Given the description of an element on the screen output the (x, y) to click on. 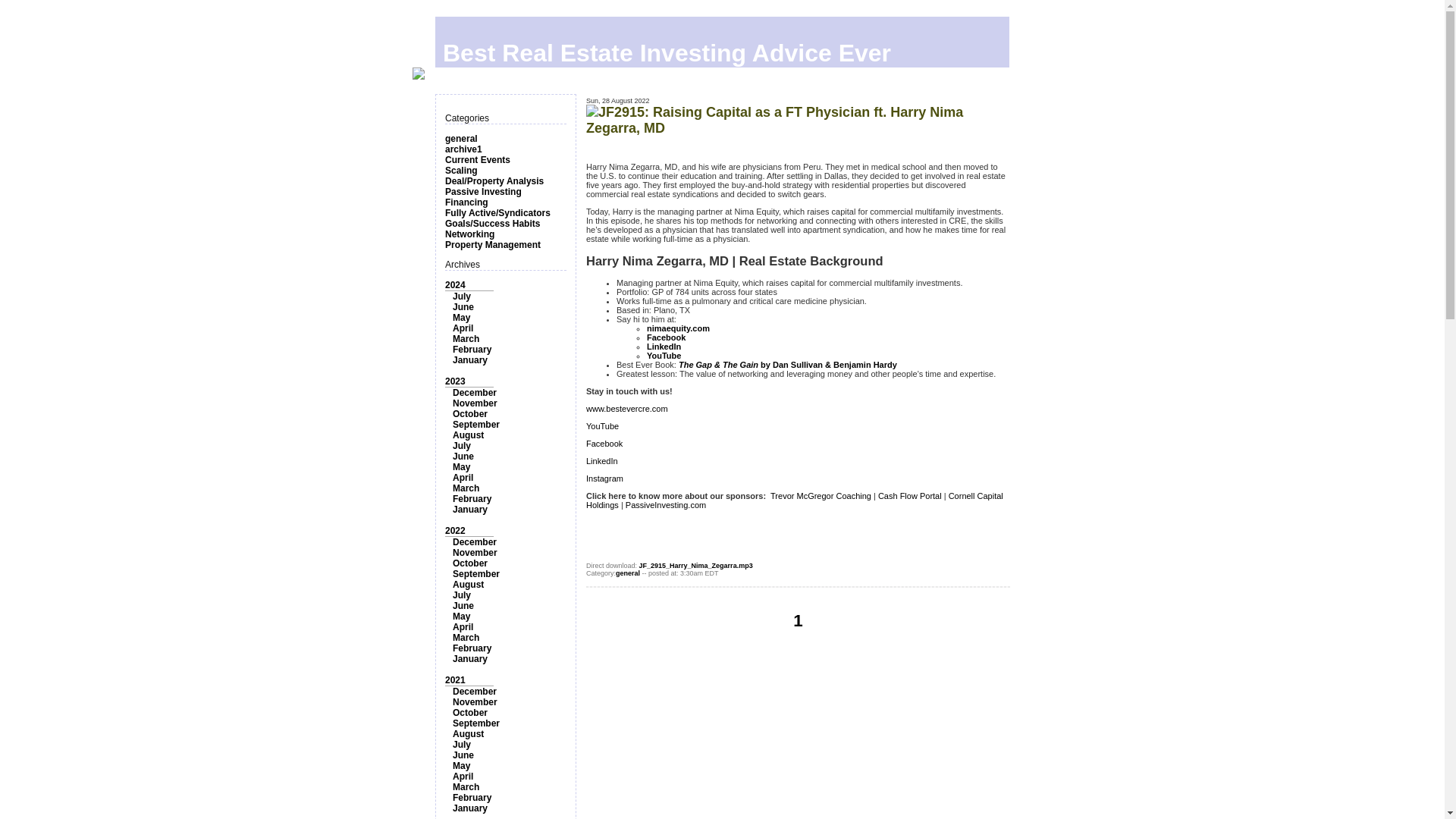
2022 (455, 530)
June (463, 605)
October (469, 562)
Networking (470, 234)
April (462, 477)
Financing (466, 202)
February (472, 348)
July (461, 445)
April (462, 327)
Property Management (492, 244)
January (469, 359)
March (465, 488)
July (461, 594)
December (474, 392)
general (461, 138)
